Given the description of an element on the screen output the (x, y) to click on. 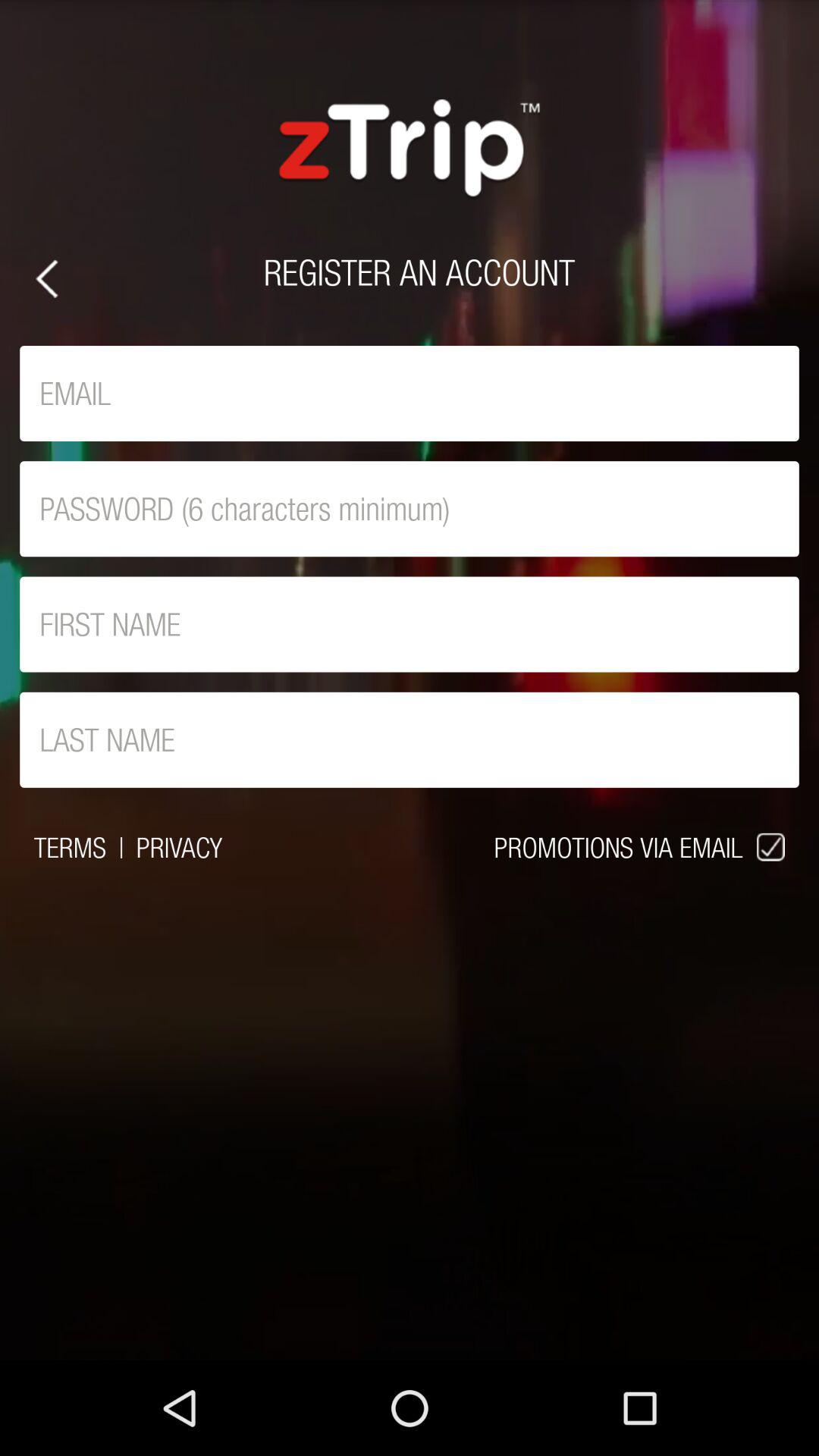
turn off the item to the left of | (70, 847)
